Given the description of an element on the screen output the (x, y) to click on. 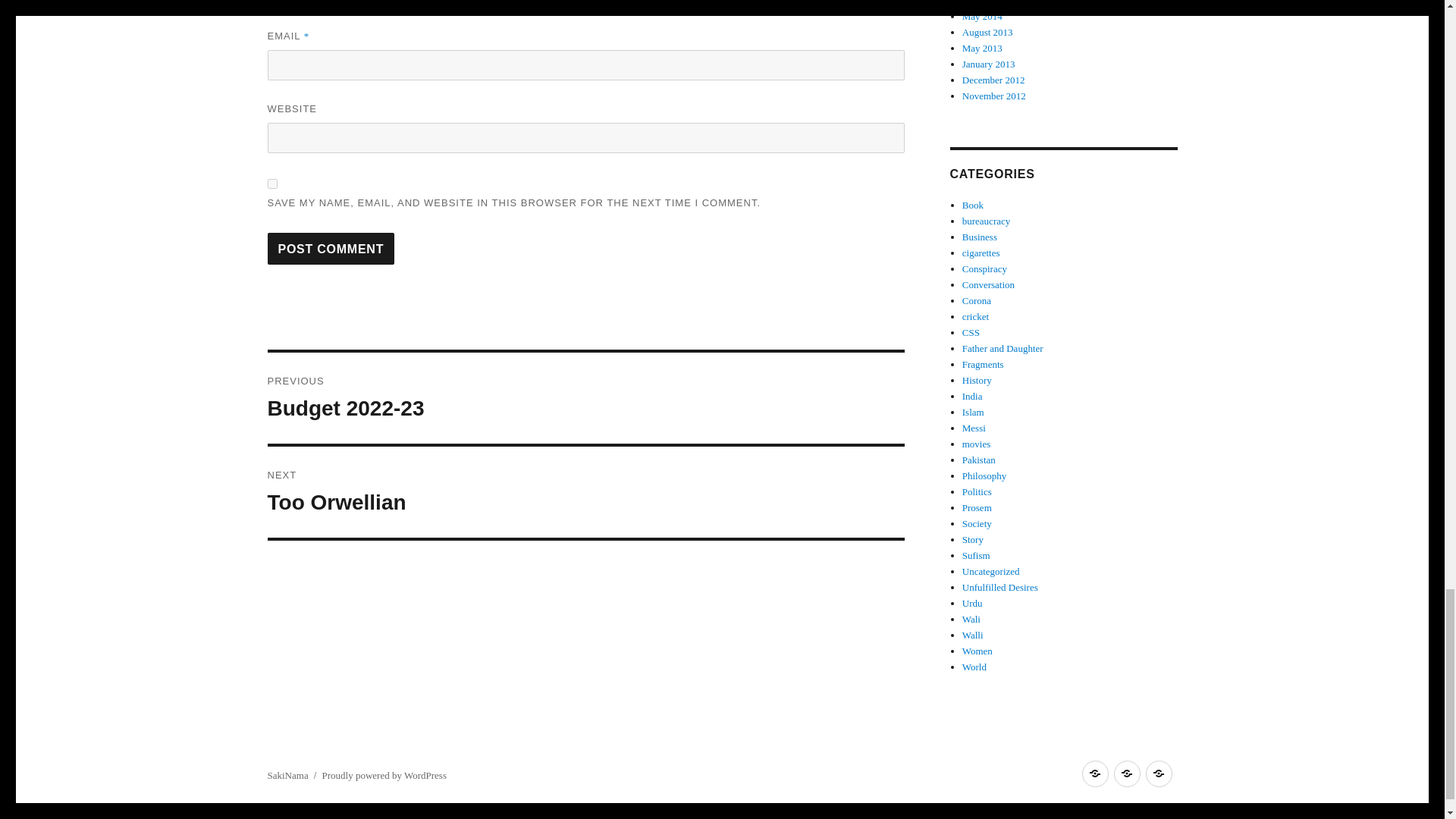
yes (271, 184)
Post Comment (585, 491)
Post Comment (330, 248)
